Given the description of an element on the screen output the (x, y) to click on. 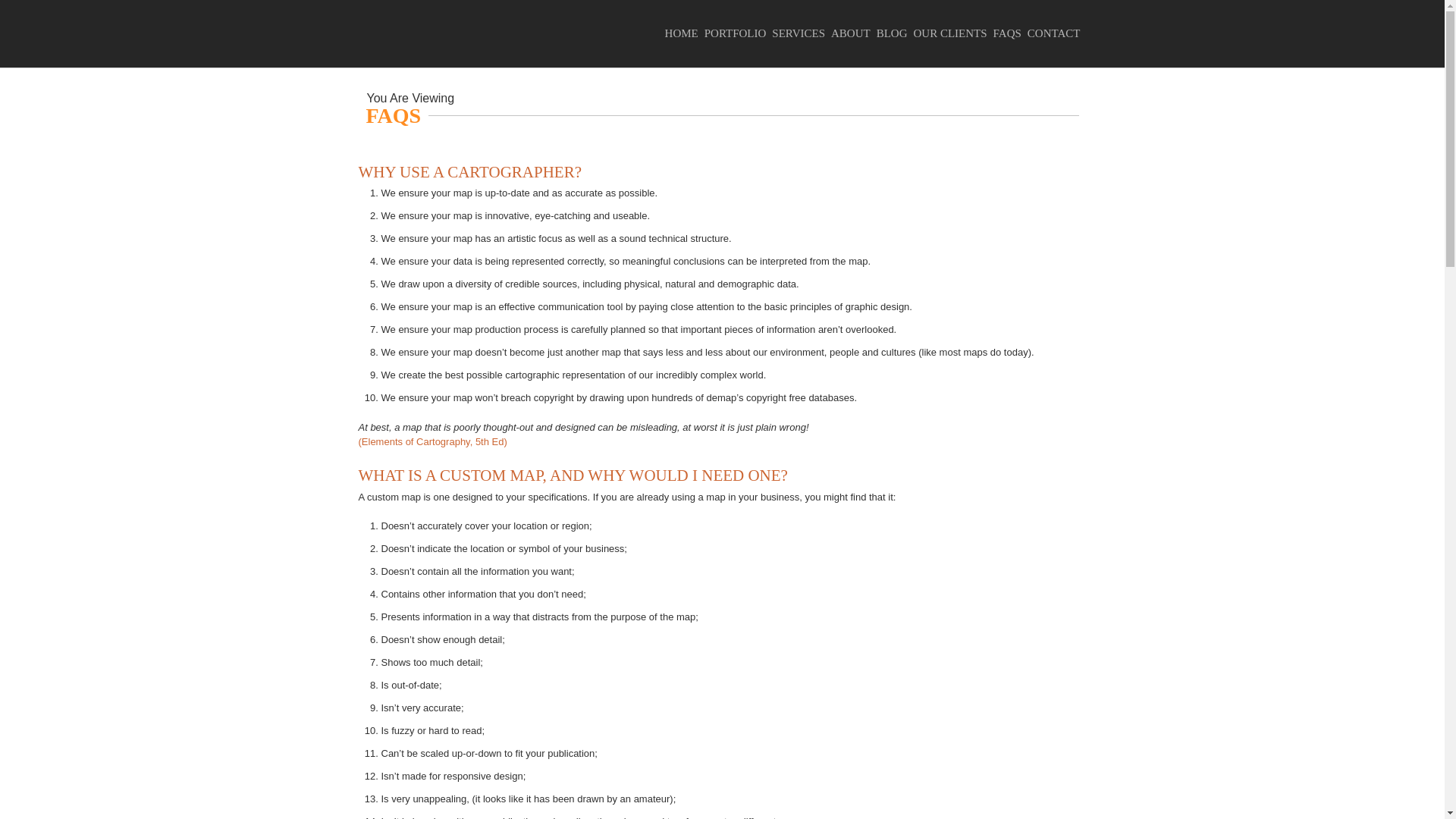
OUR CLIENTS (953, 33)
ABOUT (853, 33)
HOME (684, 33)
SERVICES (801, 33)
FAQS (1009, 33)
PORTFOLIO (738, 33)
BLOG (895, 33)
CONTACT (1056, 33)
